Given the description of an element on the screen output the (x, y) to click on. 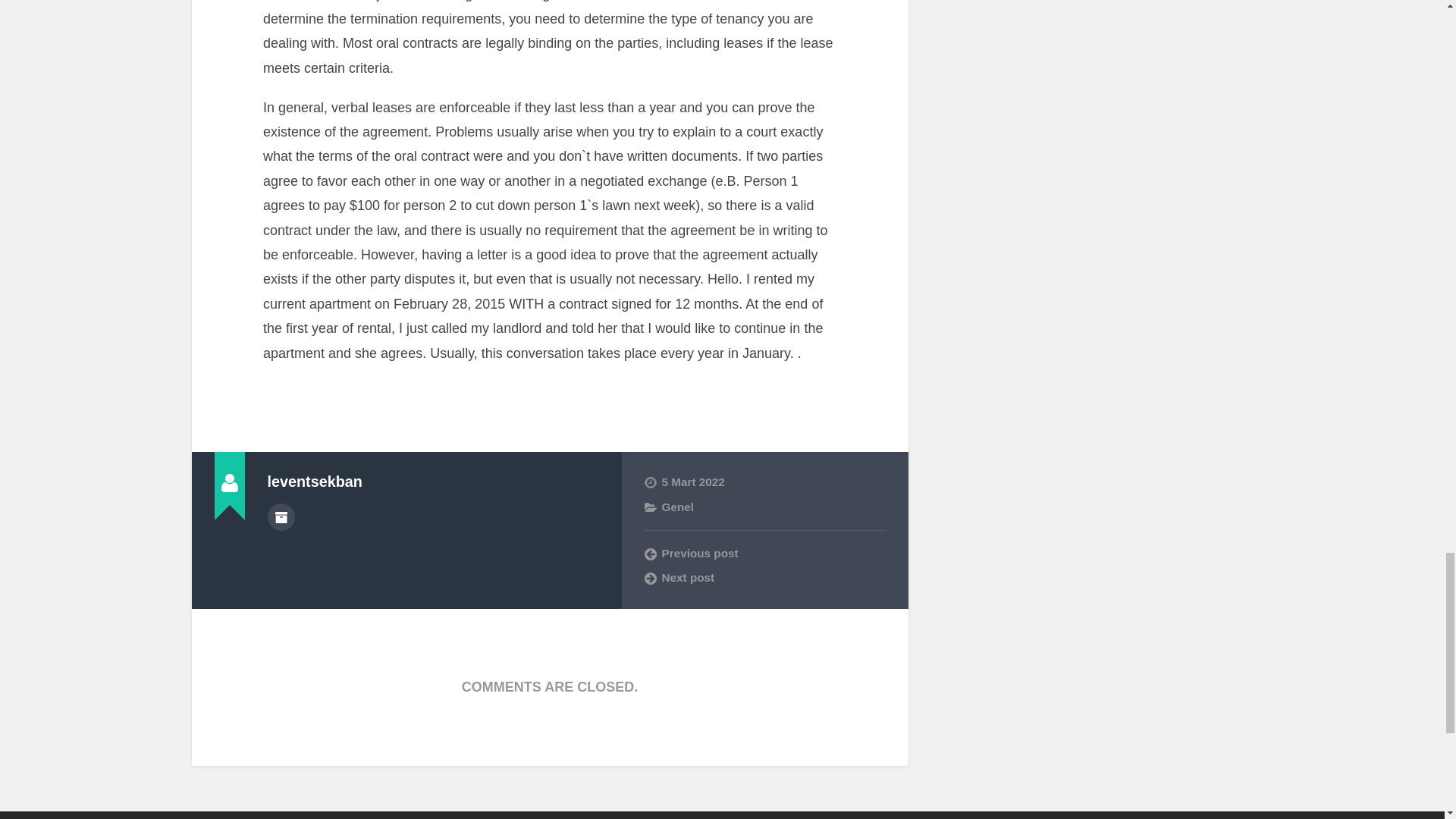
Author archive (280, 516)
Next post (765, 577)
Previous post (765, 553)
